Given the description of an element on the screen output the (x, y) to click on. 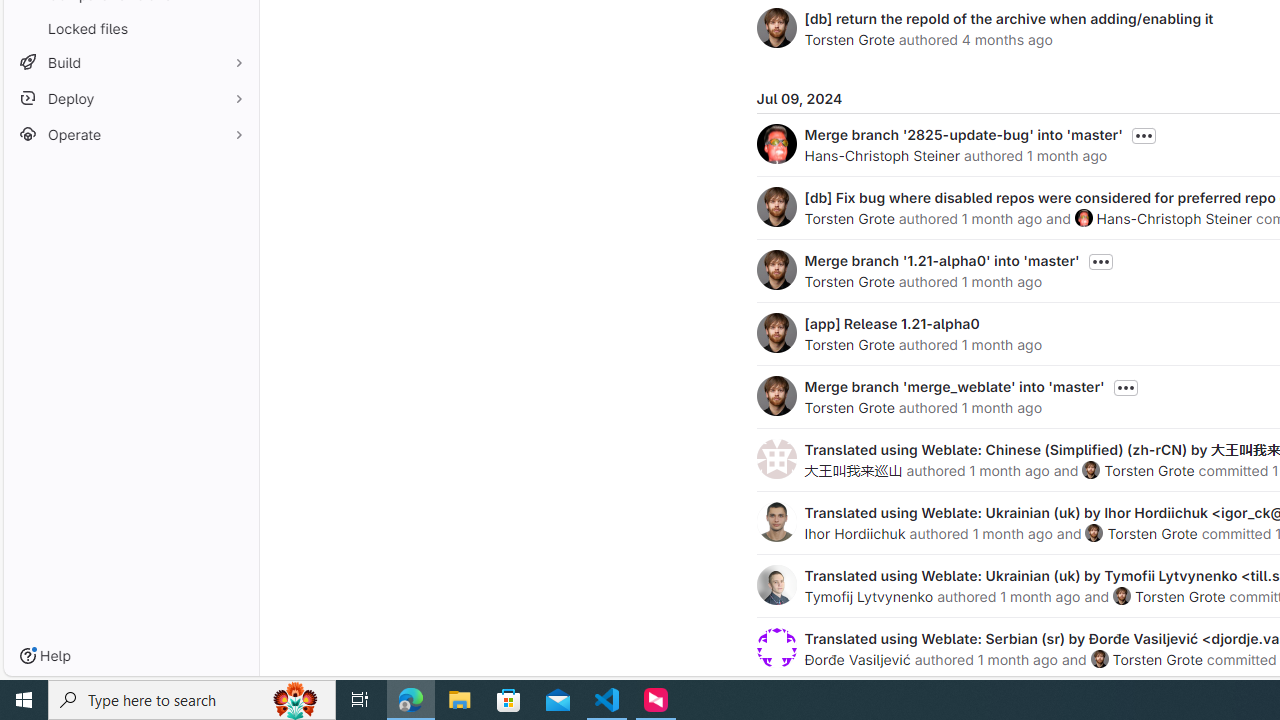
Torsten Grote (1157, 659)
Locked files (130, 28)
Ihor Hordiichuk (854, 533)
Merge branch '2825-update-bug' into 'master' (962, 134)
Toggle commit description (1125, 388)
Locked files (130, 28)
Merge branch '1.21-alpha0' into 'master' (941, 260)
[app] Release 1.21-alpha0 (891, 323)
Tymofij Lytvynenko (868, 596)
Build (130, 62)
Class: s16 gl-icon gl-button-icon  (1125, 388)
Tymofij Lytvynenko's avatar (776, 584)
